Given the description of an element on the screen output the (x, y) to click on. 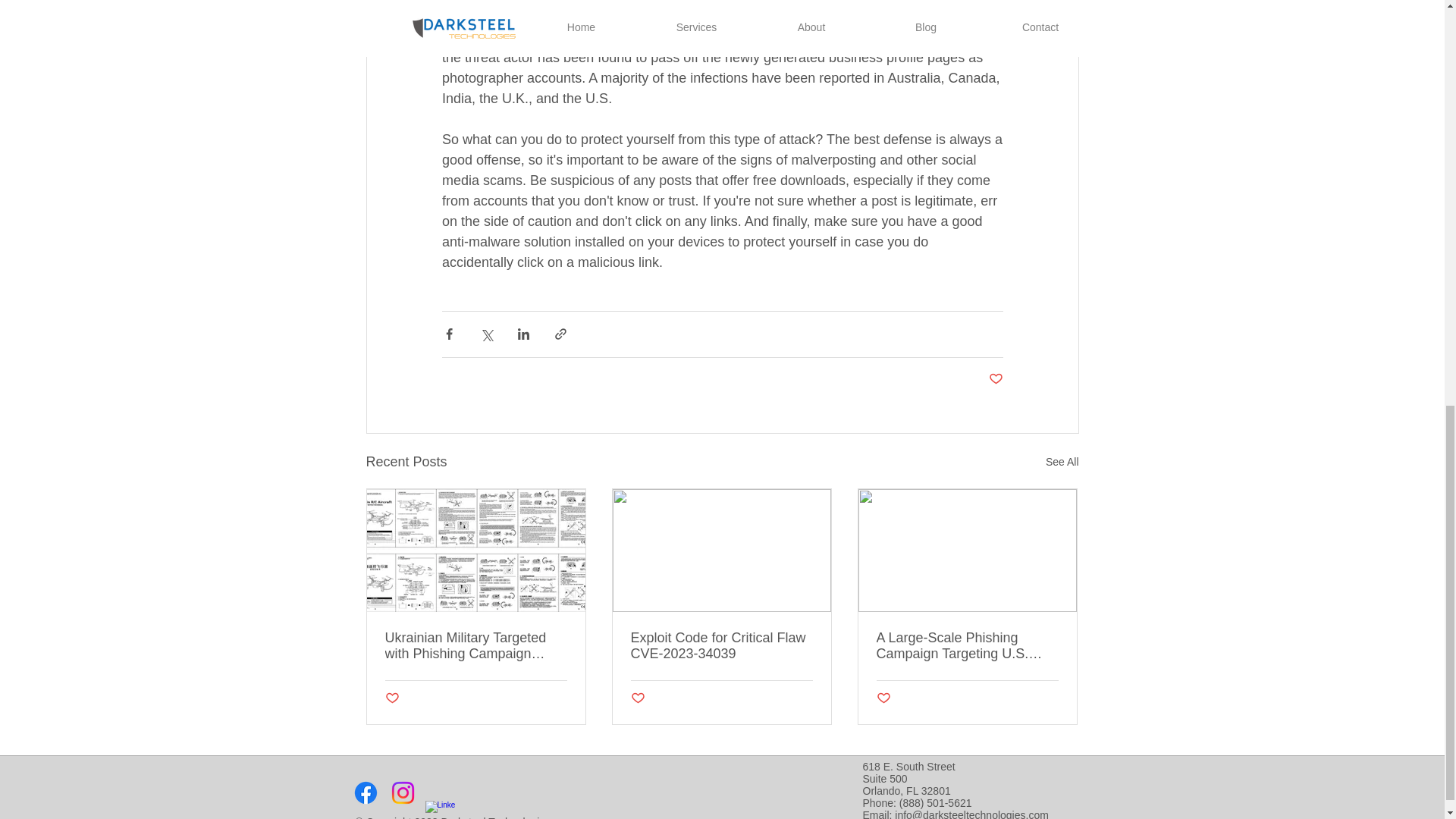
Post not marked as liked (391, 698)
See All (1061, 461)
Post not marked as liked (637, 698)
Post not marked as liked (995, 379)
Exploit Code for Critical Flaw CVE-2023-34039 (721, 644)
Post not marked as liked (883, 698)
